Given the description of an element on the screen output the (x, y) to click on. 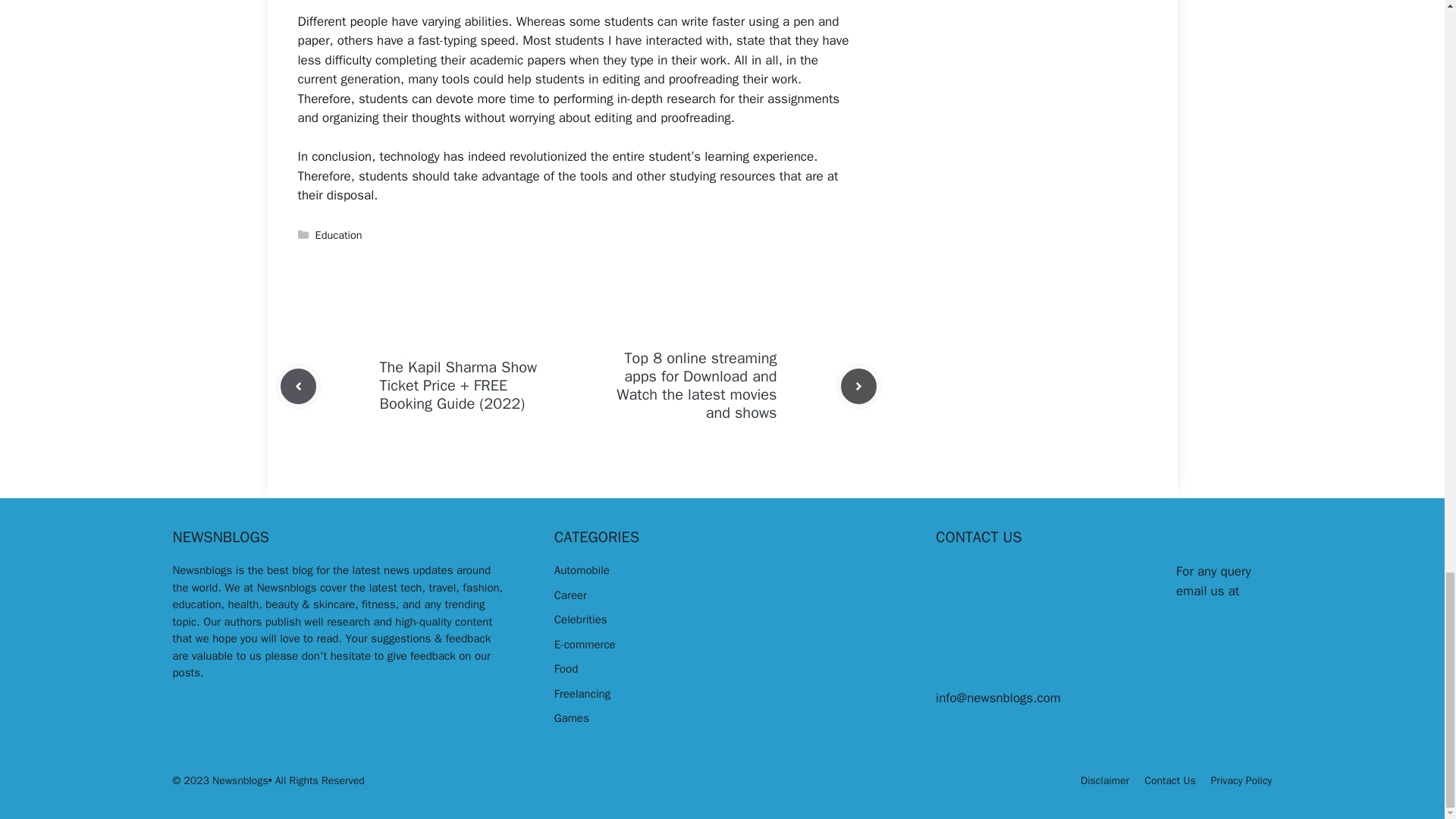
Newsnblogs (202, 570)
Games (571, 717)
Education (338, 234)
Automobile (582, 570)
Freelancing (582, 694)
Career (570, 594)
Food (566, 668)
E-commerce (584, 644)
Celebrities (580, 619)
